Given the description of an element on the screen output the (x, y) to click on. 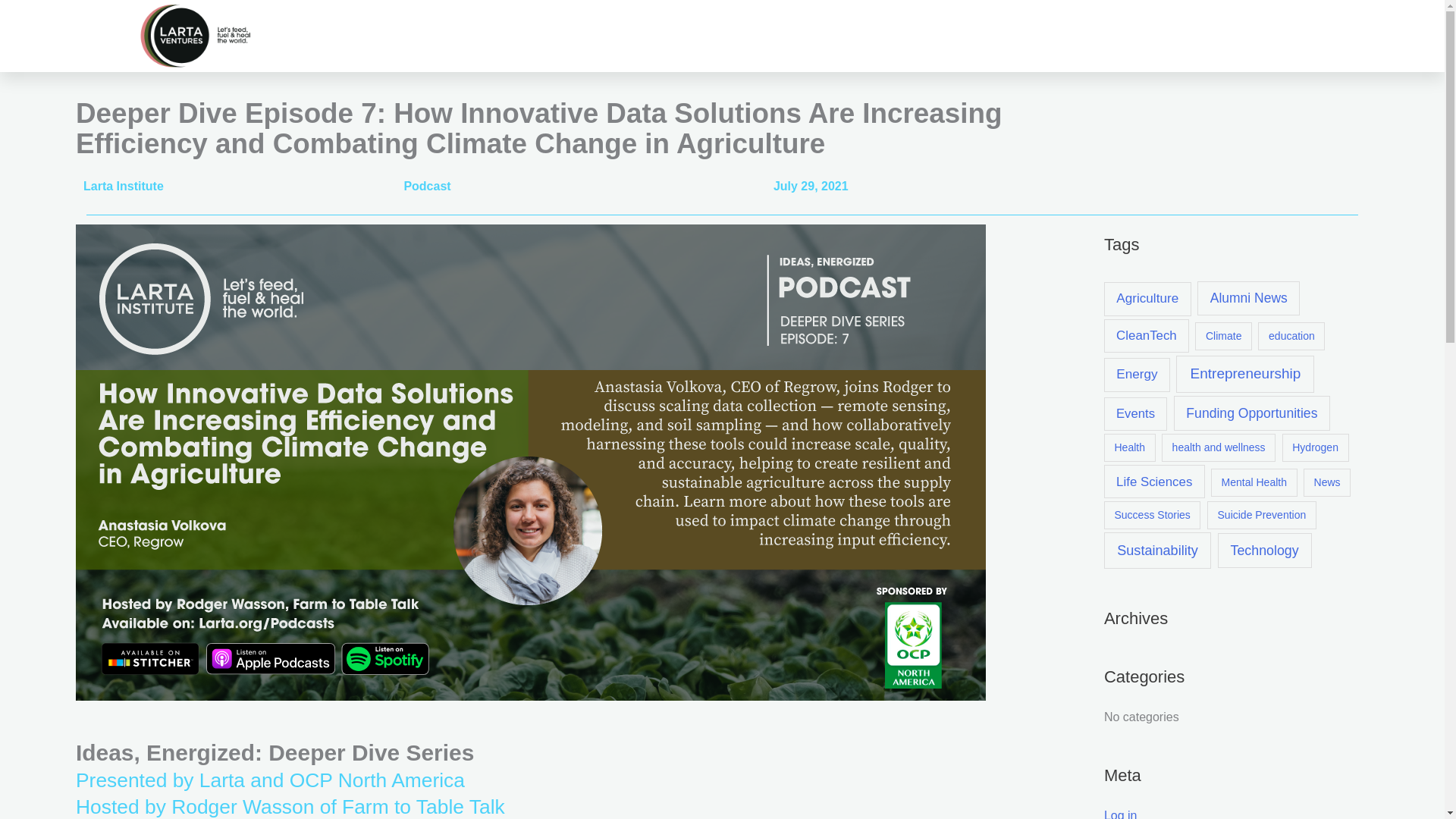
Hydrogen (1315, 447)
CleanTech (1146, 335)
Life Sciences (1154, 481)
Funding Opportunities (1251, 412)
Success Stories (1152, 515)
education (1290, 336)
Mental Health (1254, 482)
Entrepreneurship (1245, 374)
News (1327, 482)
Alumni News (1248, 298)
